Given the description of an element on the screen output the (x, y) to click on. 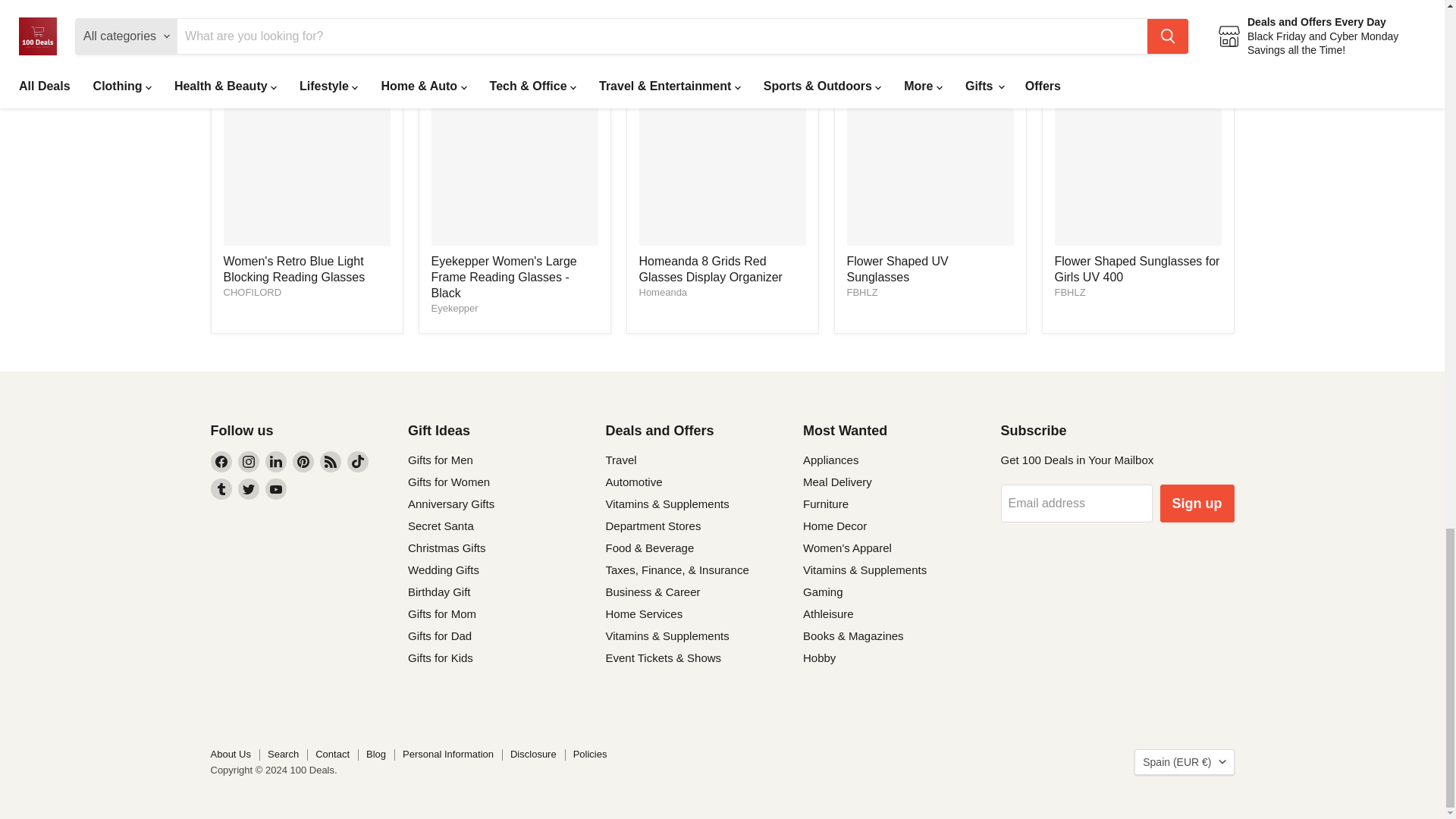
CHOFILORD (251, 292)
Facebook (221, 461)
Twitter (248, 488)
RSS (330, 461)
Pinterest (303, 461)
LinkedIn (275, 461)
FBHLZ (861, 292)
Tumblr (221, 488)
TikTok (357, 461)
Eyekepper (453, 307)
Instagram (248, 461)
FBHLZ (1069, 292)
YouTube (275, 488)
Homeanda (663, 292)
